Given the description of an element on the screen output the (x, y) to click on. 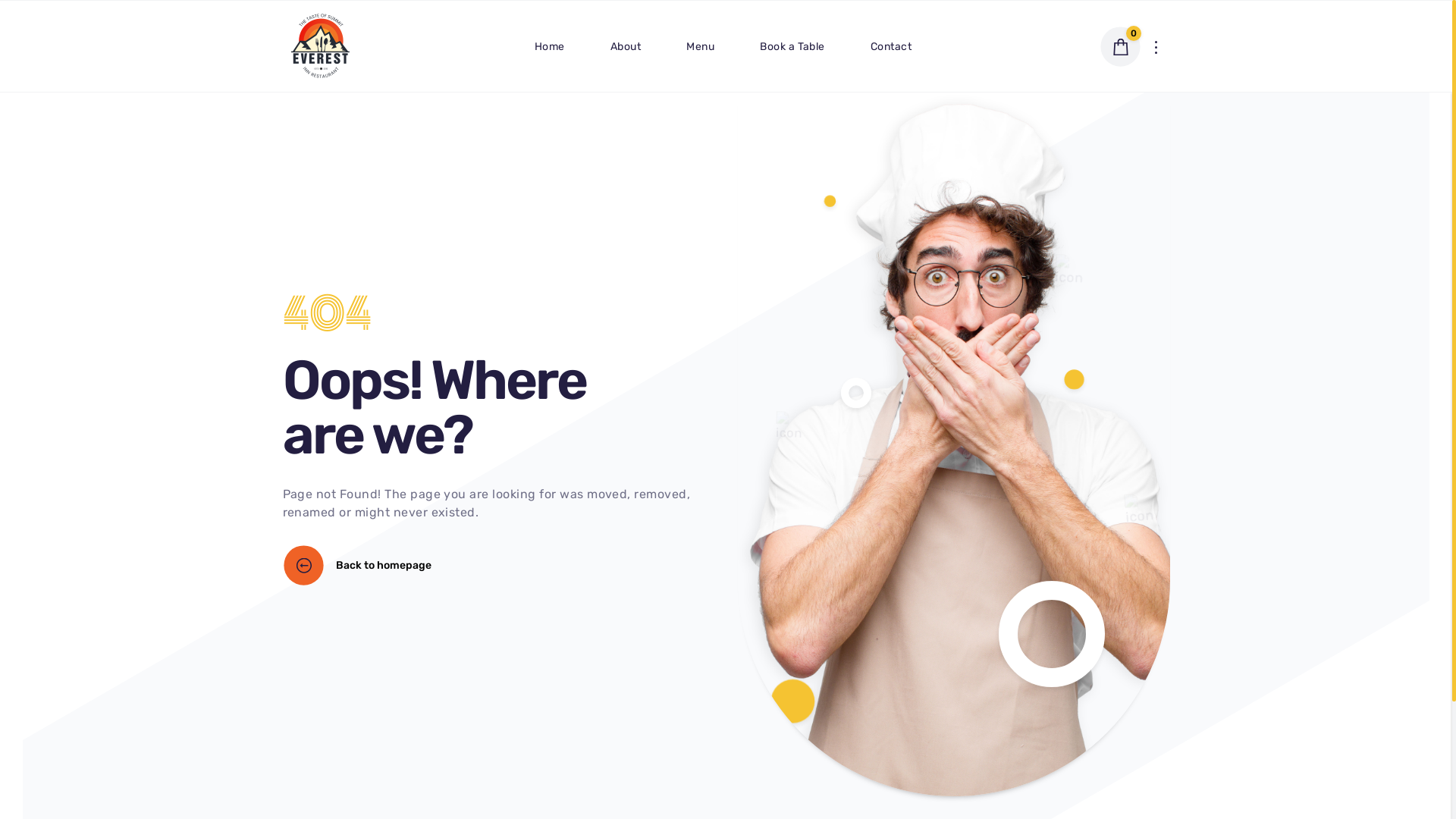
Book a Table Element type: text (792, 45)
Everest Logo 5 Element type: hover (319, 46)
About Element type: text (625, 45)
Back to homepage Element type: text (356, 565)
Contact Element type: text (890, 45)
Home Element type: text (549, 45)
Menu Element type: text (700, 45)
